Given the description of an element on the screen output the (x, y) to click on. 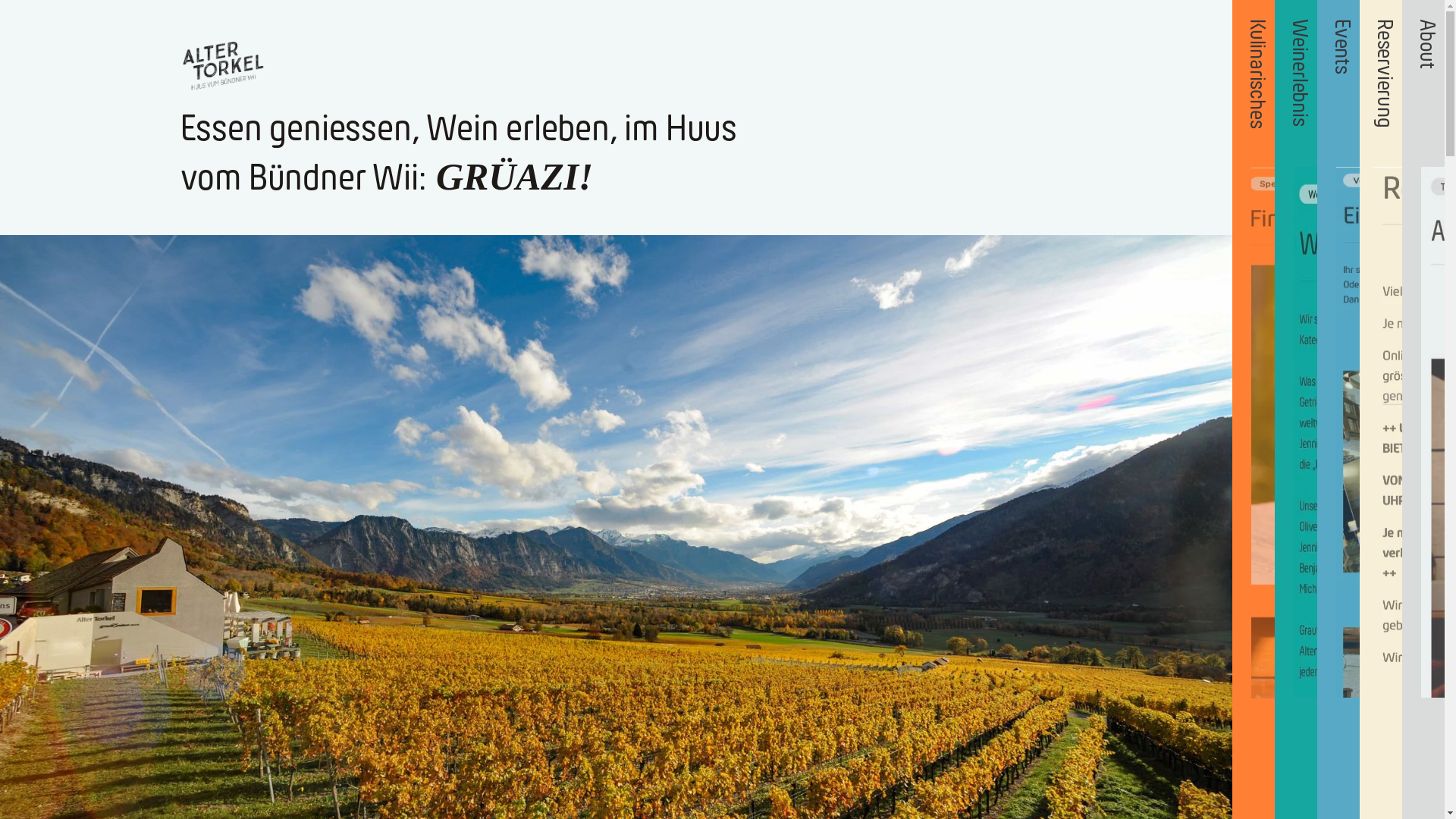
Wein Element type: text (461, 128)
Essen Element type: text (224, 128)
